Given the description of an element on the screen output the (x, y) to click on. 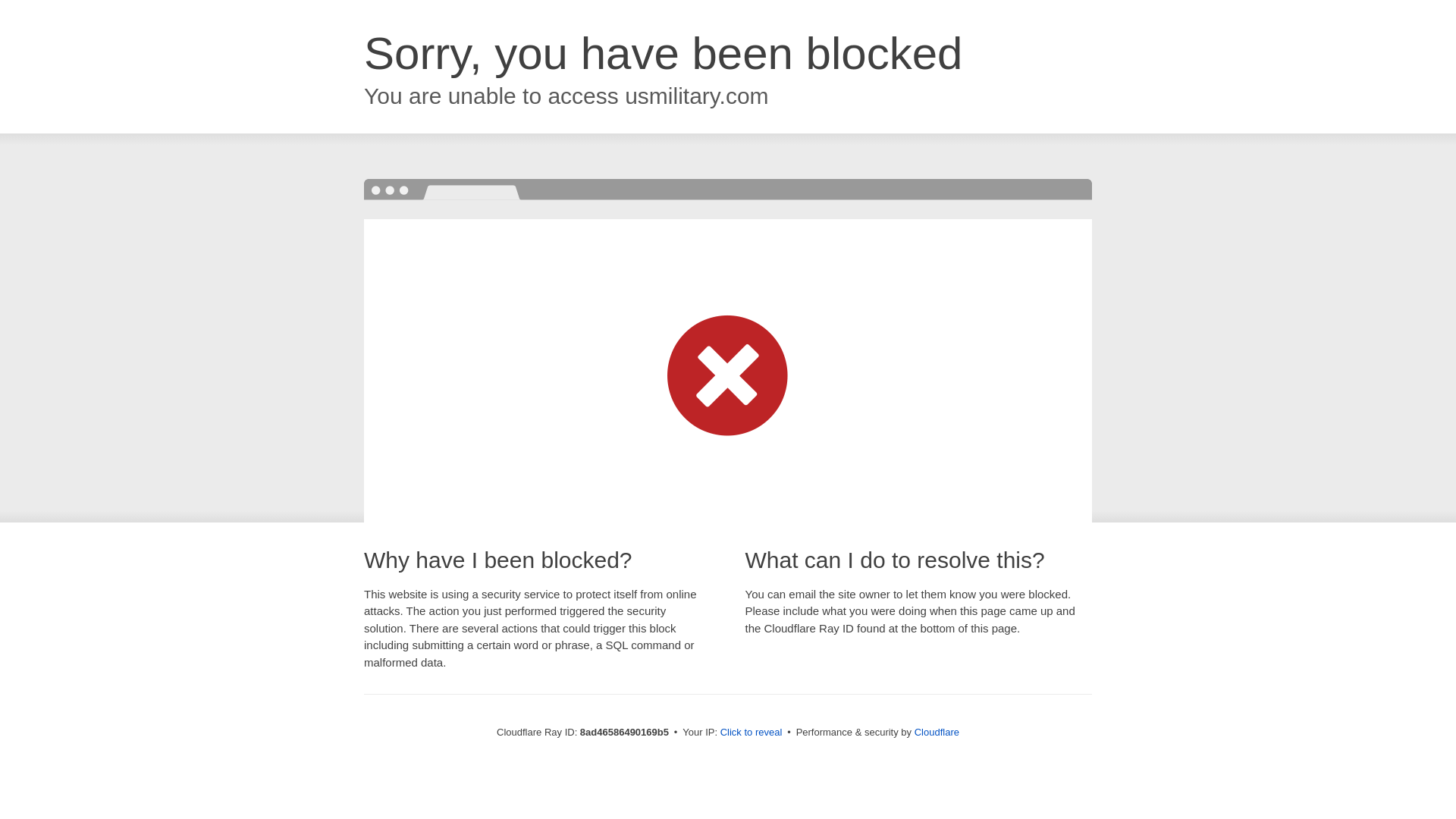
Click to reveal (751, 732)
Cloudflare (936, 731)
